Given the description of an element on the screen output the (x, y) to click on. 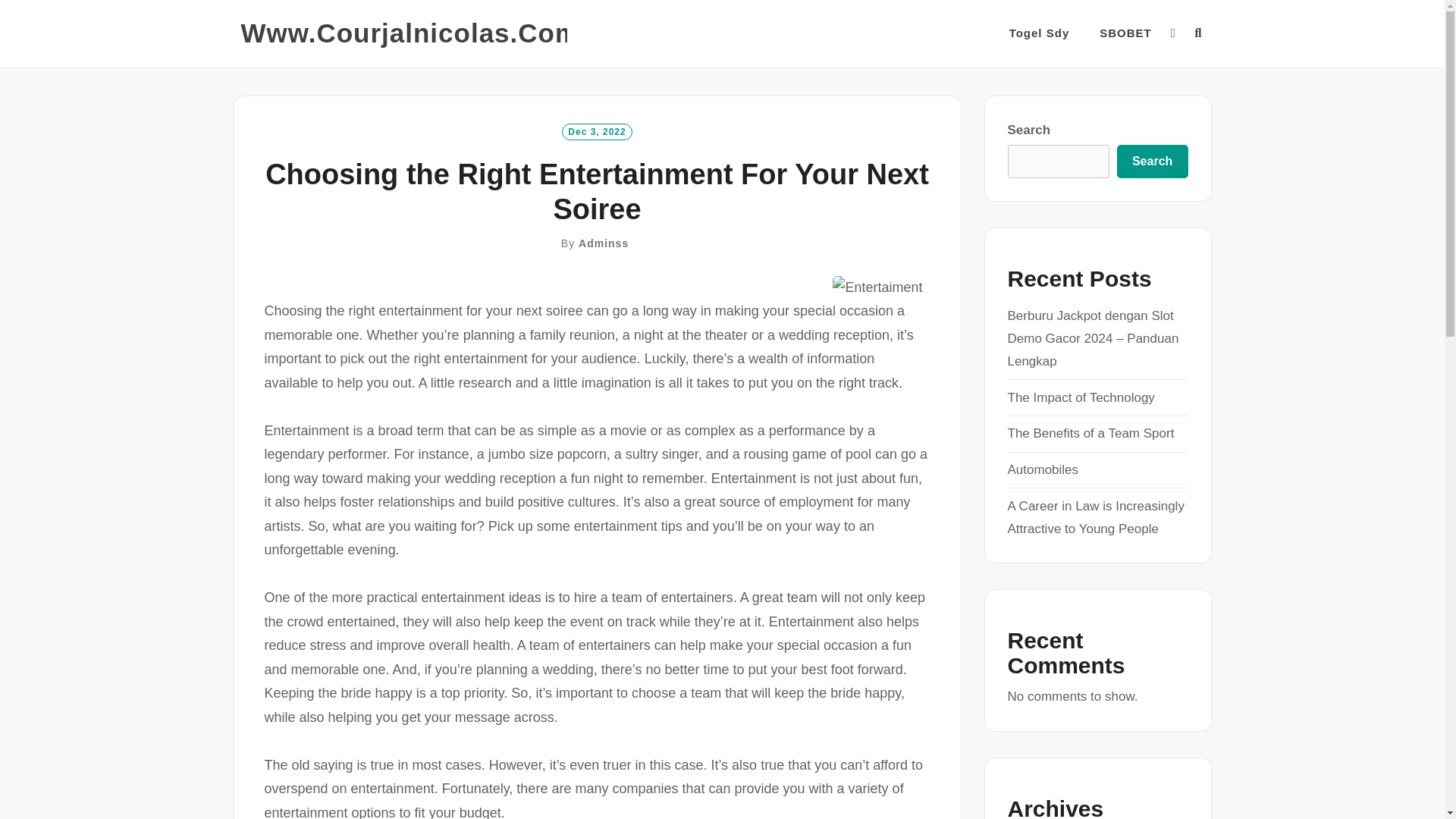
Dec 3, 2022 (596, 130)
Search (1152, 161)
SBOBET (1125, 33)
Automobiles (1042, 469)
The Benefits of a Team Sport (1090, 432)
Adminss (603, 243)
Togel Sdy (1039, 33)
The Impact of Technology (1080, 397)
A Career in Law is Increasingly Attractive to Young People (1095, 517)
Www.Courjalnicolas.Com (410, 33)
